Given the description of an element on the screen output the (x, y) to click on. 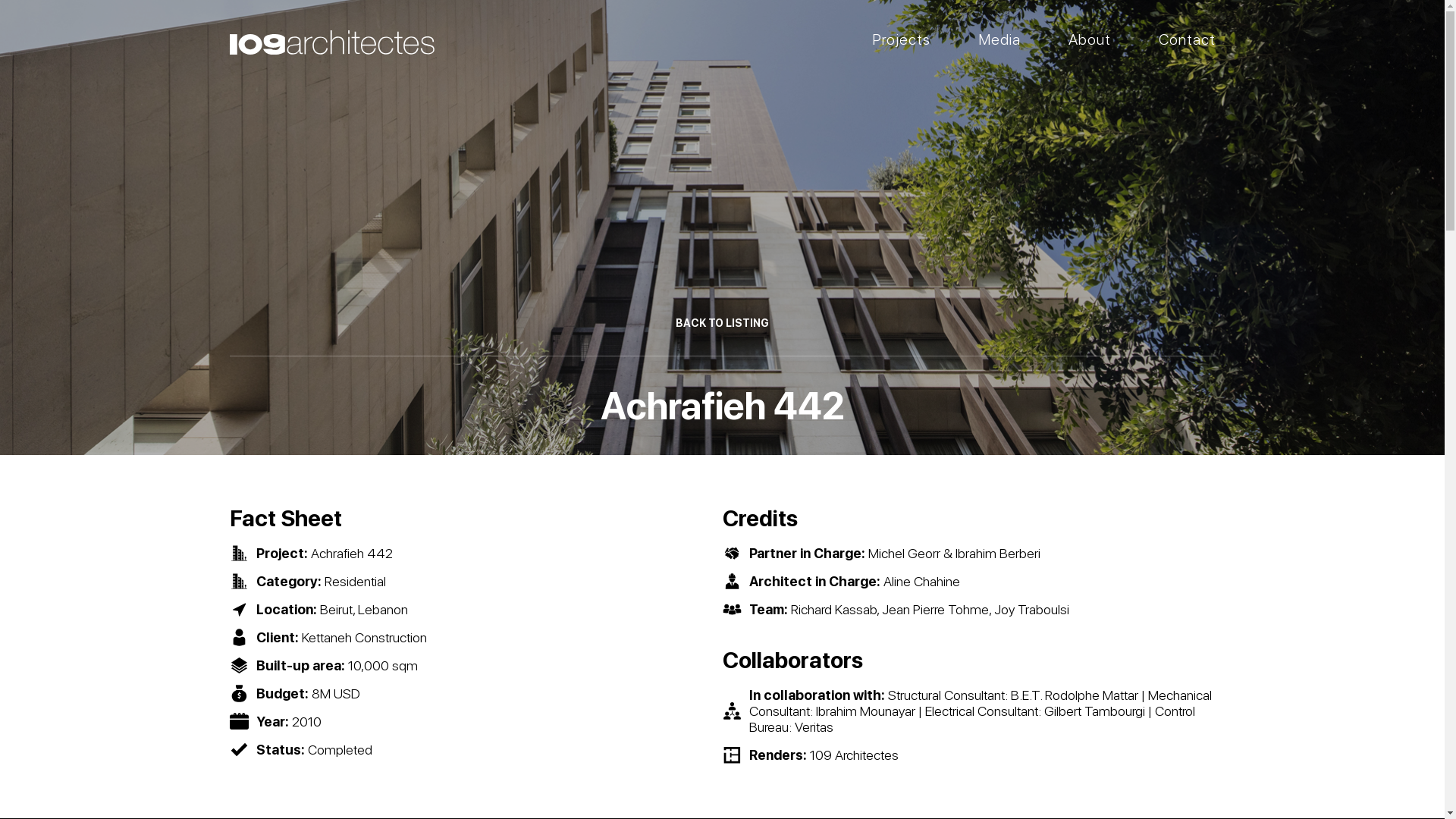
Media Element type: text (999, 41)
BACK TO LISTING Element type: text (721, 322)
Projects Element type: text (901, 41)
Contact Element type: text (1186, 41)
About Element type: text (1088, 41)
